Given the description of an element on the screen output the (x, y) to click on. 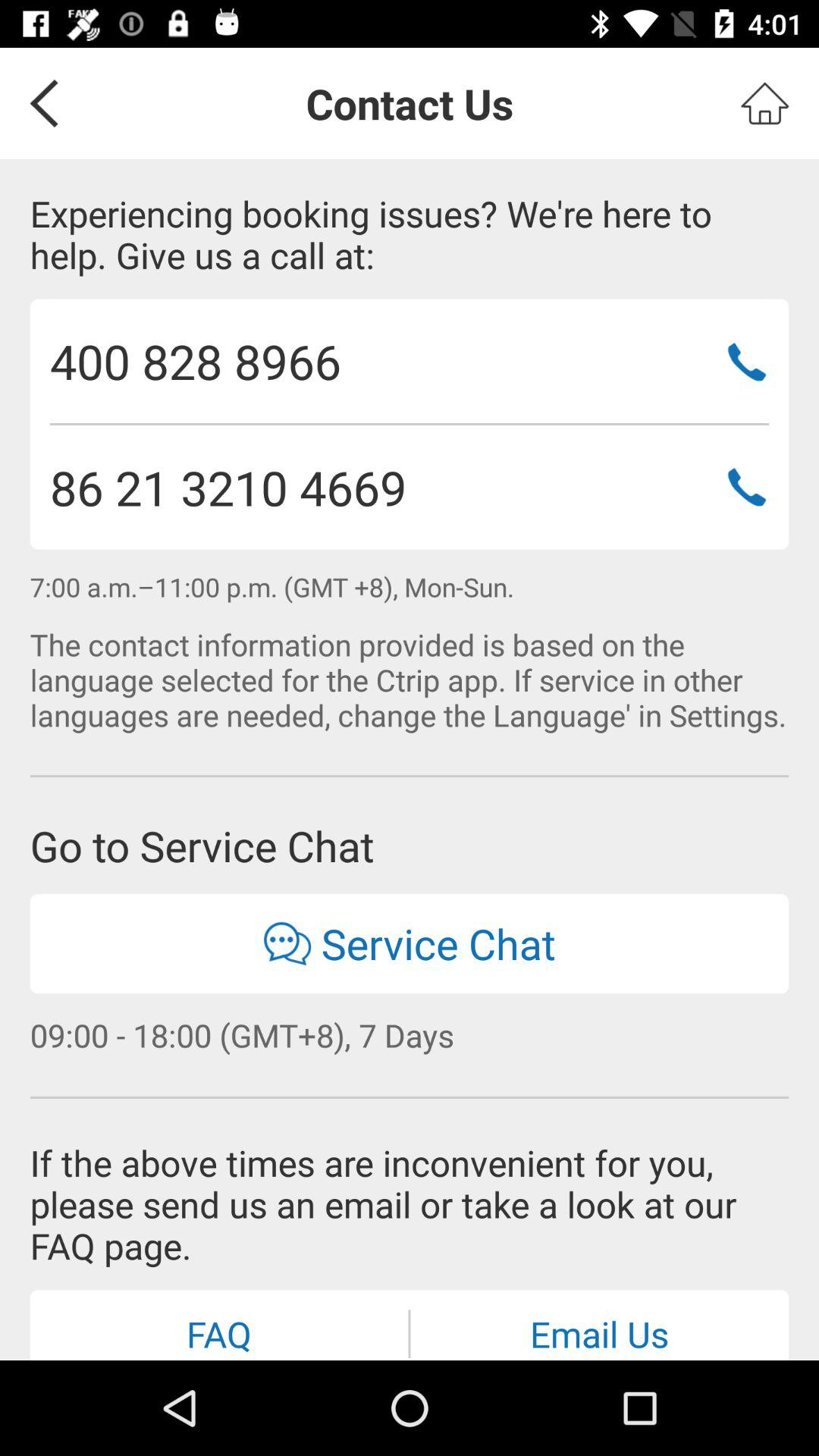
click item above the experiencing booking issues icon (764, 103)
